Given the description of an element on the screen output the (x, y) to click on. 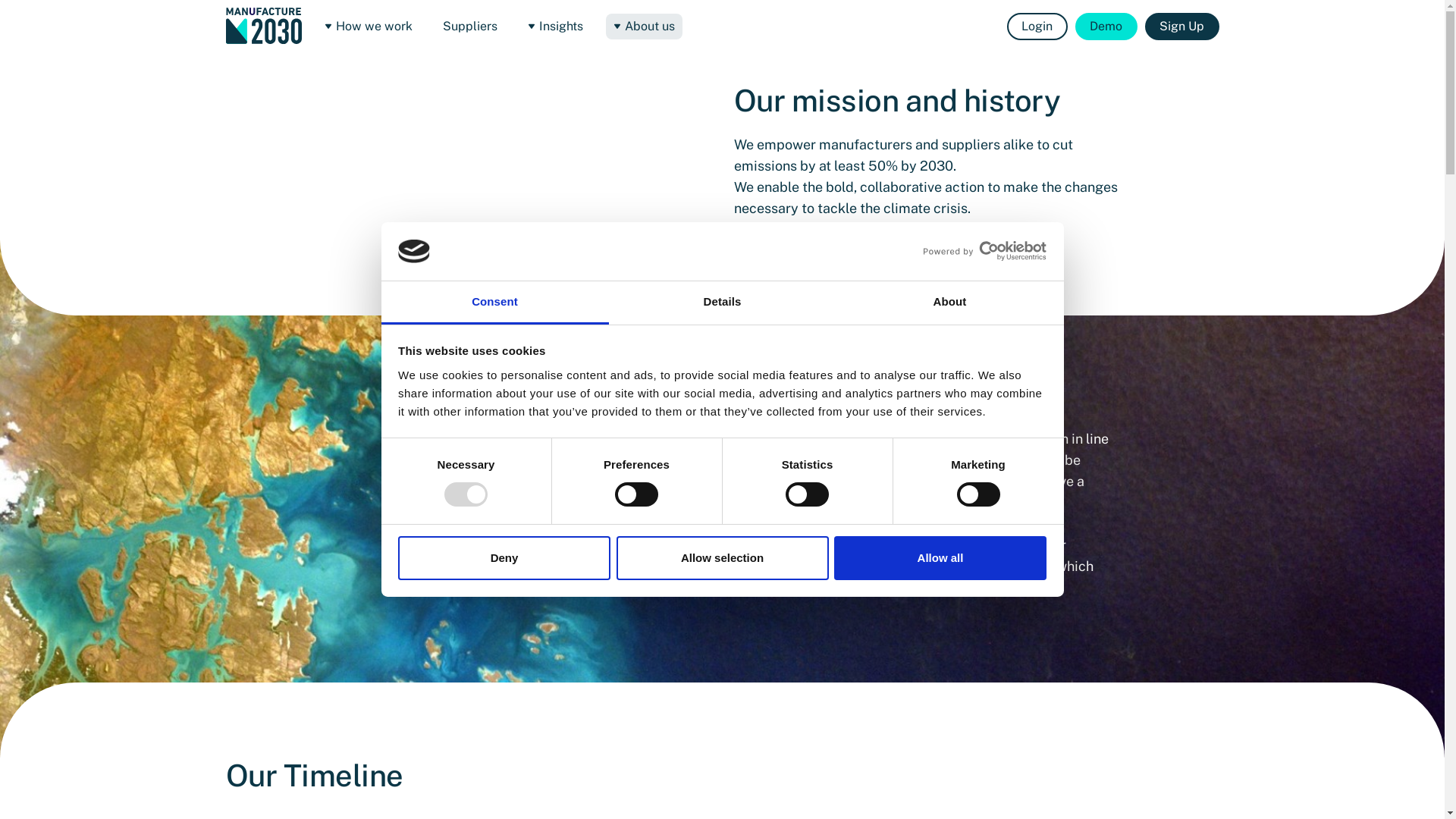
Allow all Element type: text (940, 558)
How we work Element type: text (368, 26)
Home Element type: text (263, 25)
Details Element type: text (721, 302)
Suppliers Element type: text (470, 26)
Consent Element type: text (494, 302)
Insights Element type: text (555, 26)
Allow selection Element type: text (721, 558)
Demo Element type: text (1106, 25)
About us Element type: text (643, 26)
Deny Element type: text (504, 558)
Login Element type: text (1037, 25)
About Element type: text (949, 302)
Sign Up Element type: text (1182, 25)
